Given the description of an element on the screen output the (x, y) to click on. 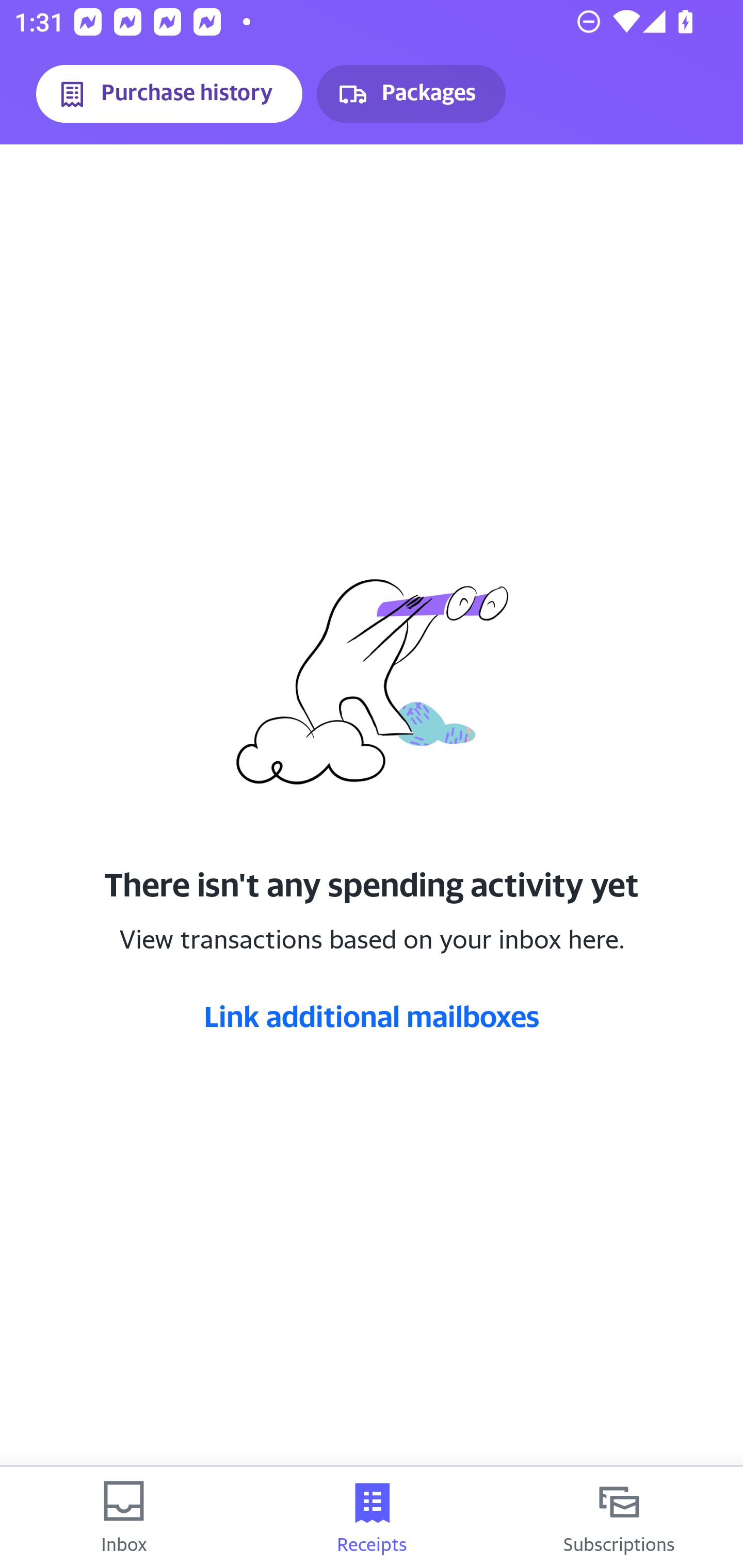
Packages (410, 93)
Link additional mailboxes (371, 1015)
Inbox (123, 1517)
Receipts (371, 1517)
Subscriptions (619, 1517)
